Given the description of an element on the screen output the (x, y) to click on. 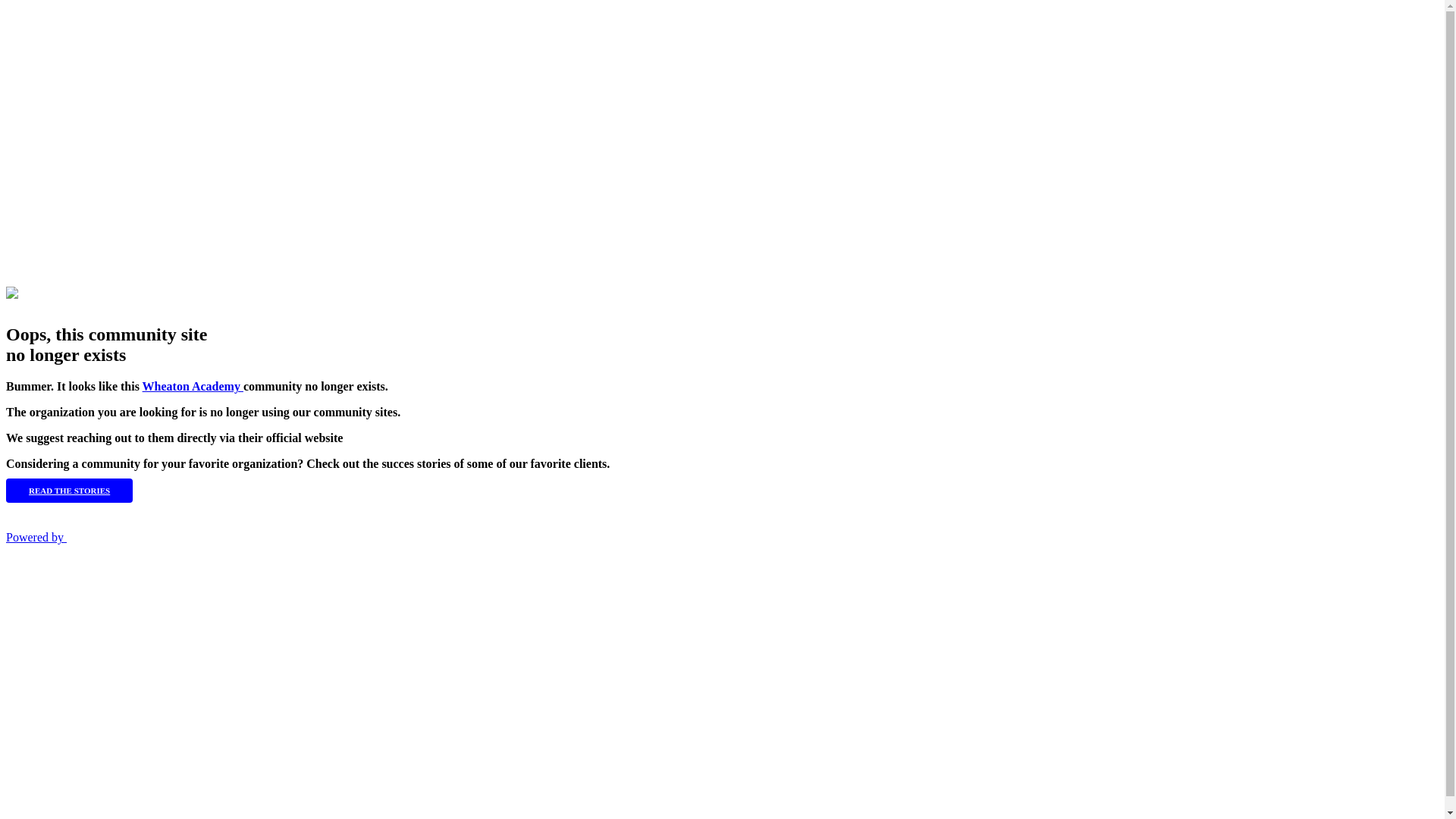
READ THE STORIES Element type: text (69, 490)
Wheaton Academy Element type: text (192, 385)
Powered by Element type: text (36, 536)
